Given the description of an element on the screen output the (x, y) to click on. 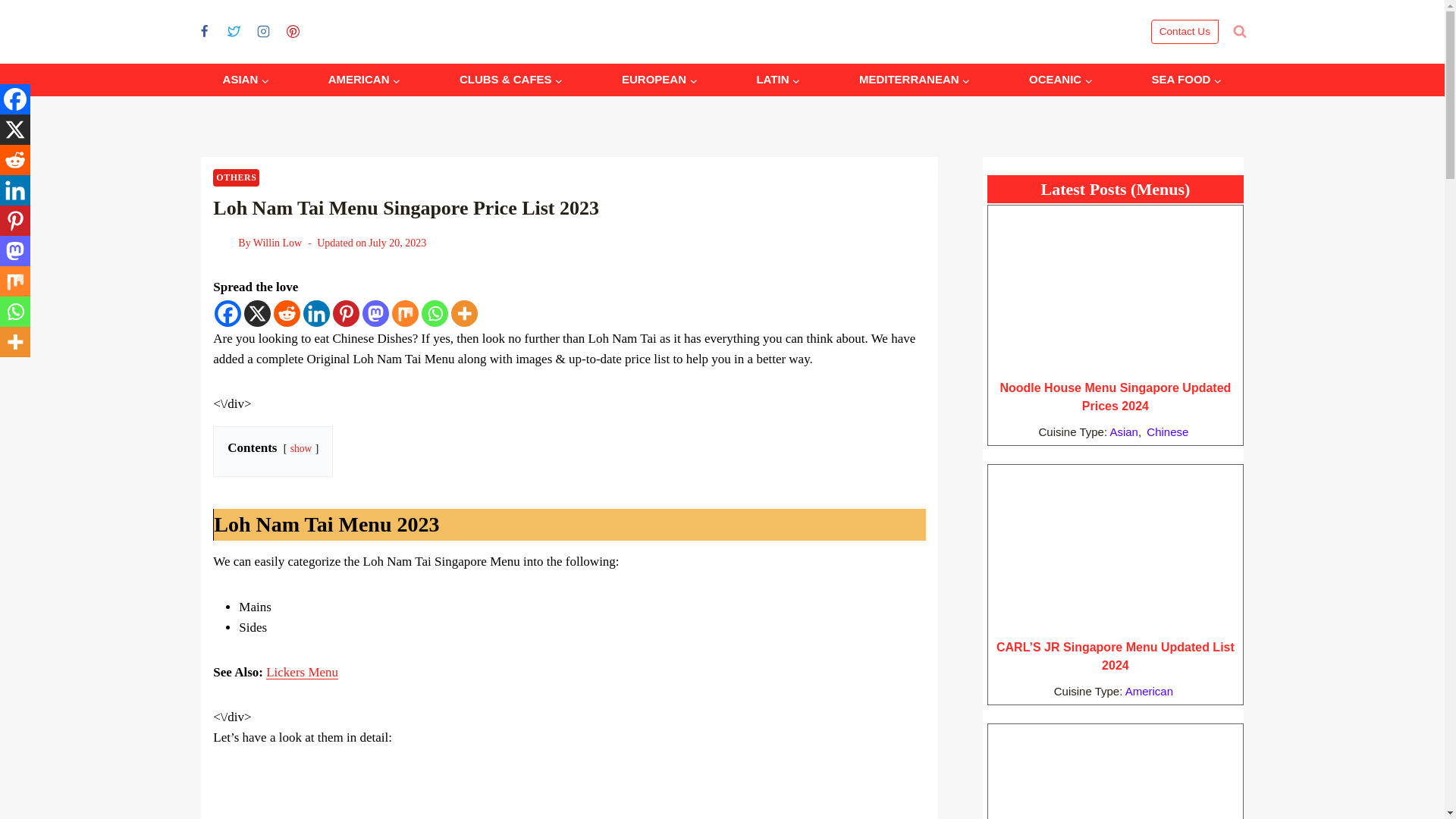
Linkedin (15, 190)
X (257, 313)
Facebook (15, 99)
Mastodon (15, 250)
Contact Us (1184, 31)
Mix (15, 281)
ASIAN (245, 80)
X (15, 129)
Facebook (227, 313)
Mix (405, 313)
